Given the description of an element on the screen output the (x, y) to click on. 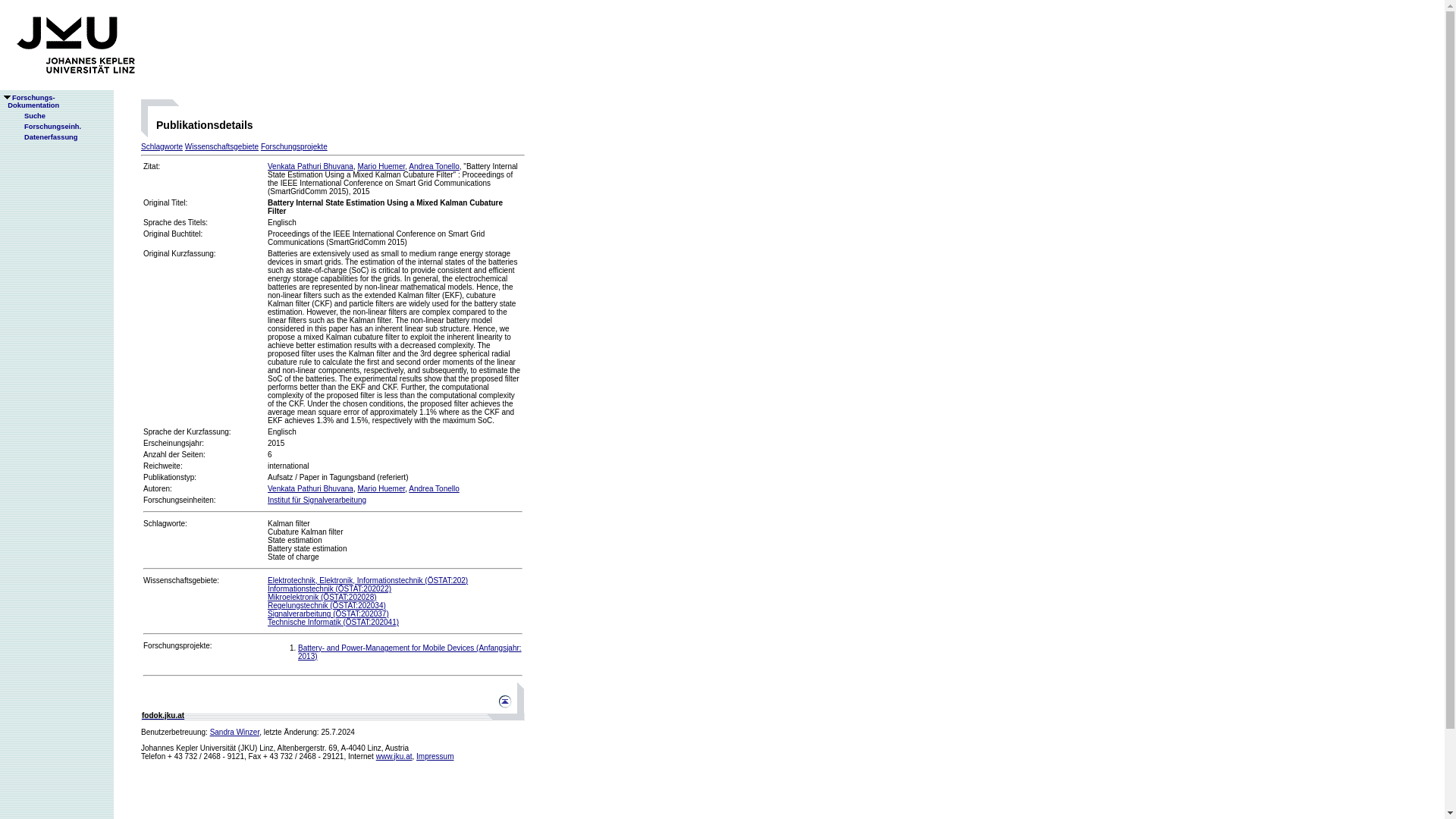
Suche (28, 115)
Wissenschaftsgebiete: (180, 580)
Andrea Tonello (434, 166)
Wissenschaftsgebiete (221, 146)
Venkata Pathuri Bhuvana (29, 101)
Schlagworte: (310, 488)
Venkata Pathuri Bhuvana (164, 523)
Forschungsprojekte (310, 166)
Sandra Winzer (293, 146)
Forschungsprojekte: (234, 732)
Mario Huemer (177, 645)
www.jku.at (380, 166)
Forschungseinh. (393, 756)
fodok.jku.at (46, 126)
